Given the description of an element on the screen output the (x, y) to click on. 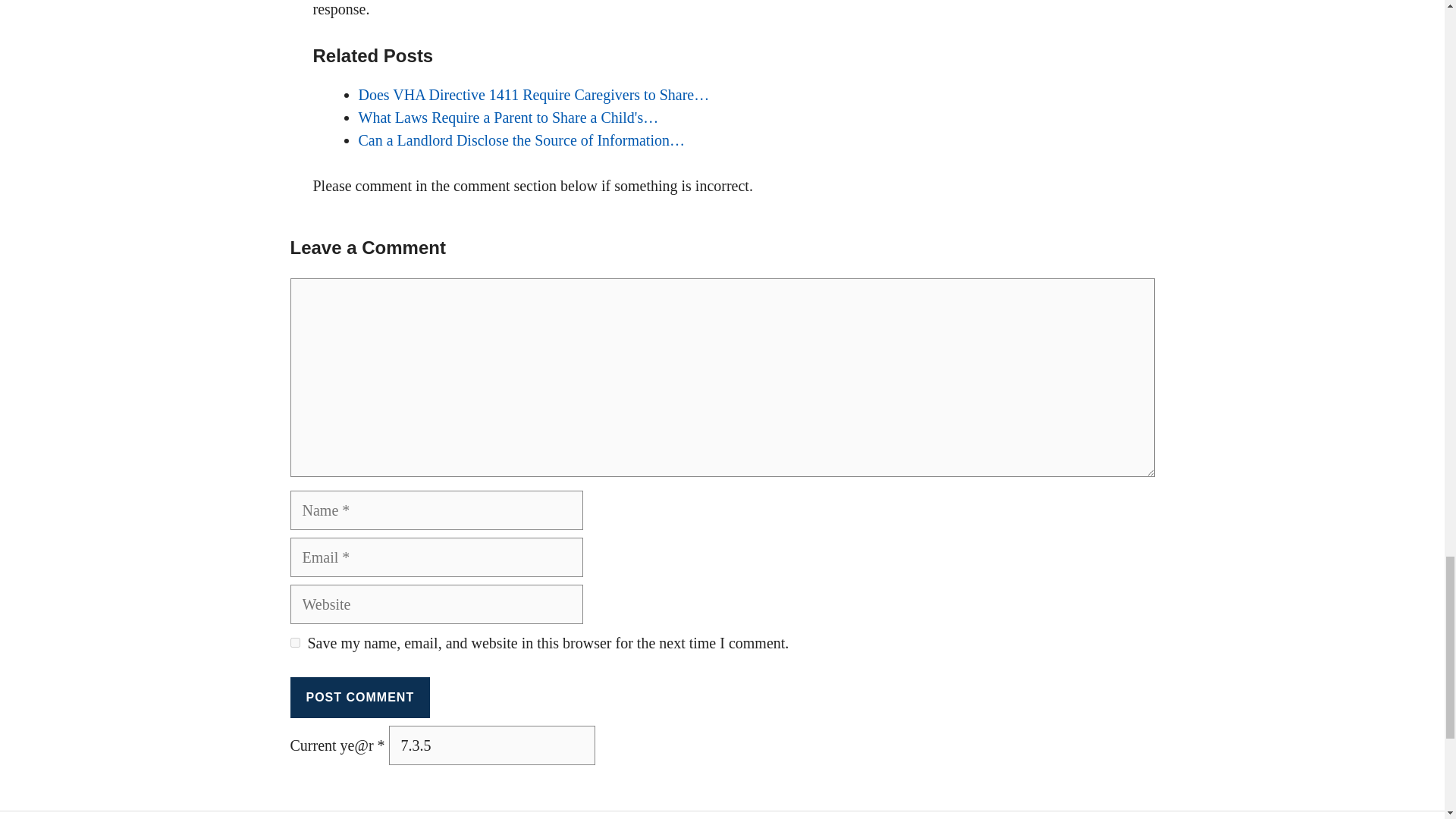
Post Comment (359, 697)
7.3.5 (491, 744)
yes (294, 642)
Post Comment (359, 697)
